Given the description of an element on the screen output the (x, y) to click on. 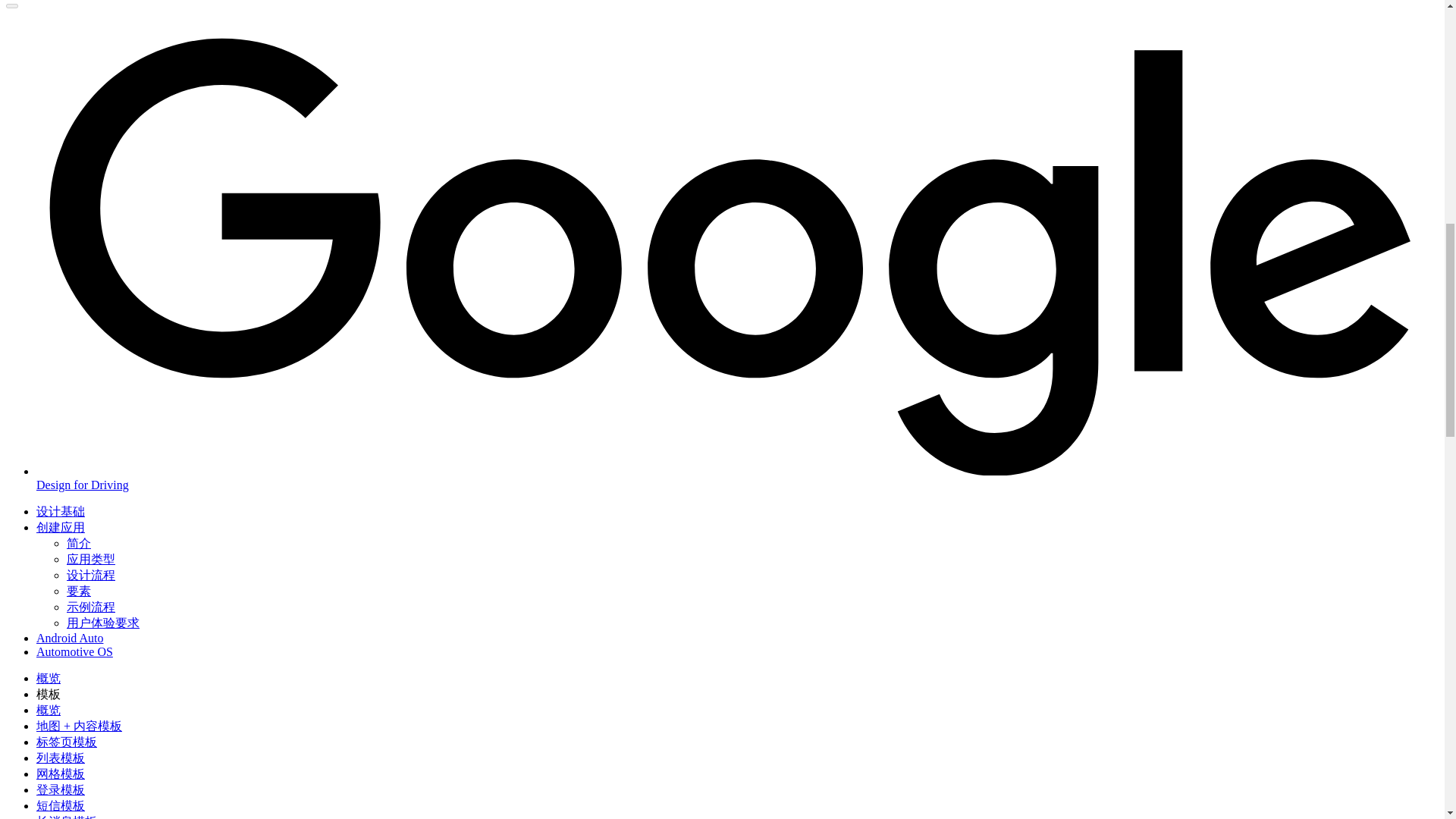
Automotive OS (74, 651)
Android Auto (69, 637)
